Given the description of an element on the screen output the (x, y) to click on. 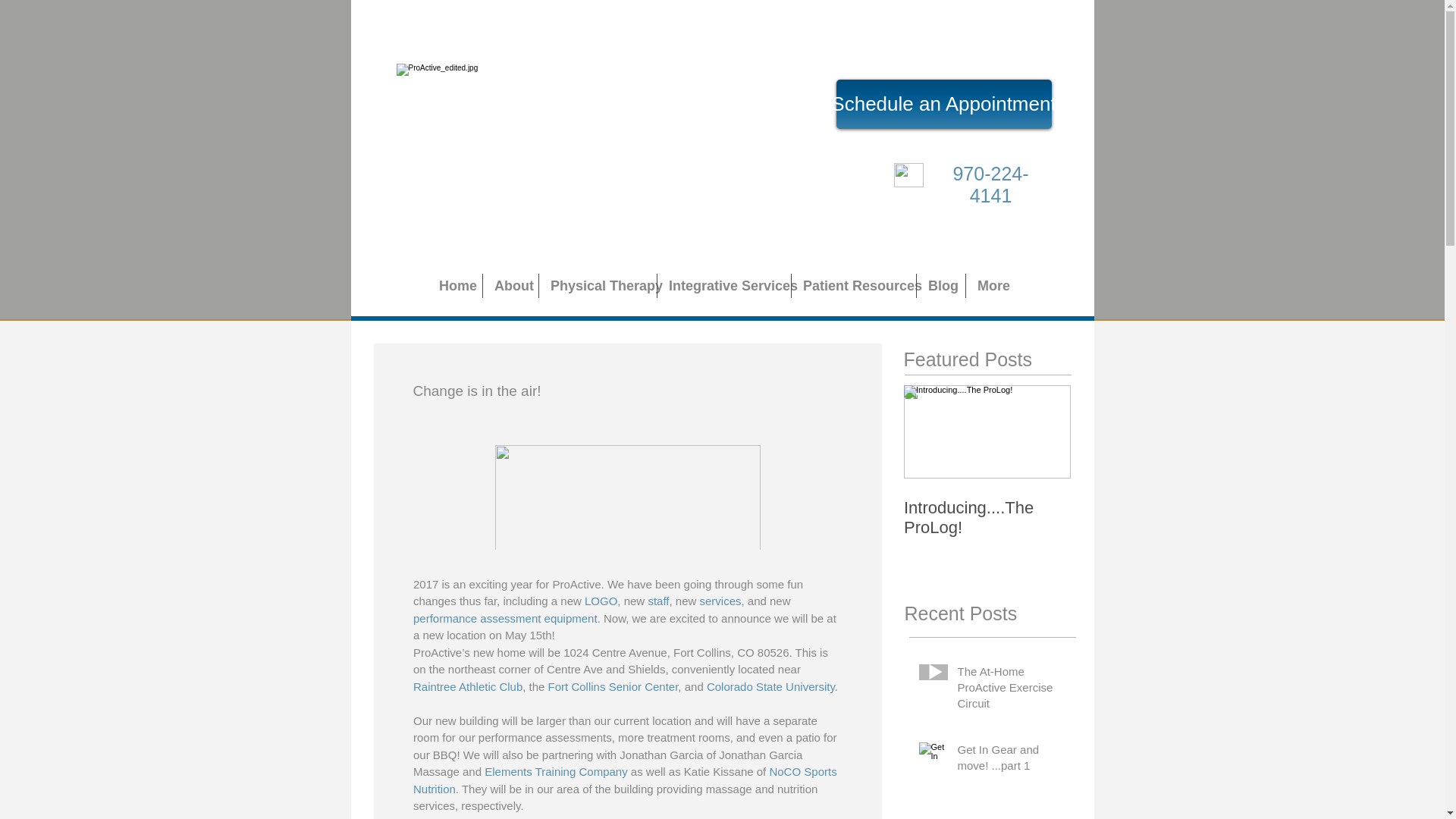
staff (657, 600)
NoCO Sports Nutrition (626, 779)
Integrative Services (724, 285)
services (719, 600)
About (510, 285)
Schedule an Appointment (943, 103)
LOGO (599, 600)
performance assessment equipment (504, 617)
Home (454, 285)
Fort Collins Senior Center (612, 686)
